Given the description of an element on the screen output the (x, y) to click on. 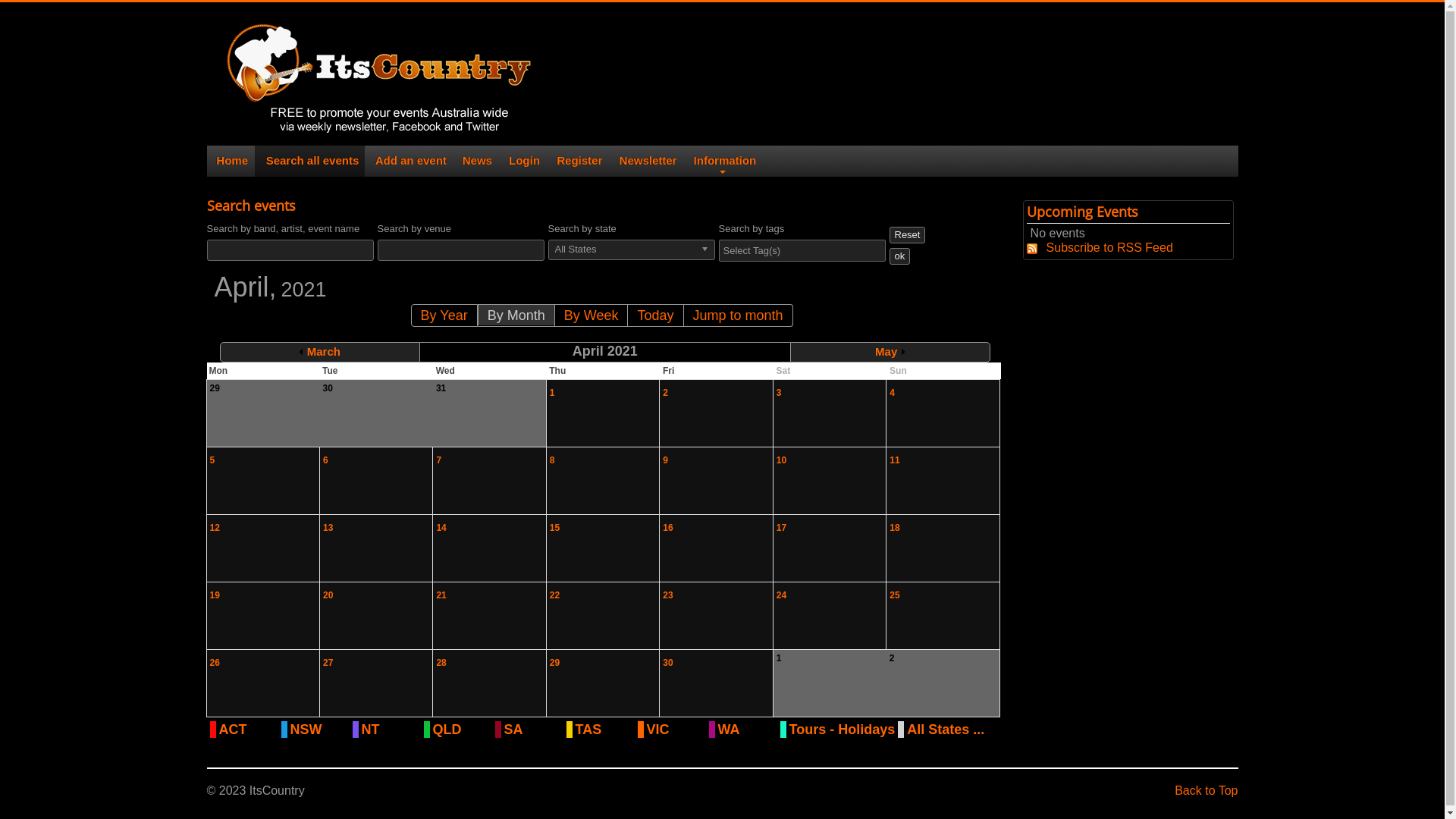
ACT Element type: text (247, 729)
13 Element type: text (327, 527)
Add an event Element type: text (408, 160)
March Element type: text (319, 351)
News Element type: text (476, 160)
10 Element type: text (781, 460)
5 Element type: text (211, 460)
Tours - Holidays Element type: text (841, 729)
23 Element type: text (667, 594)
NSW Element type: text (318, 729)
7 Element type: text (438, 460)
2 Element type: text (665, 392)
9 Element type: text (665, 460)
17 Element type: text (781, 527)
Login Element type: text (522, 160)
21 Element type: text (440, 594)
Home Element type: text (230, 160)
Subscribe to RSS Feed Element type: text (1099, 247)
Register Element type: text (577, 160)
TAS Element type: text (603, 729)
11 Element type: text (894, 460)
Jump to month Element type: text (738, 314)
29 Element type: text (554, 662)
All States ... Element type: text (945, 729)
19 Element type: text (214, 594)
Search all events Element type: text (309, 160)
8 Element type: text (552, 460)
27 Element type: text (327, 662)
15 Element type: text (554, 527)
Today Element type: text (654, 314)
12 Element type: text (214, 527)
26 Element type: text (214, 662)
16 Element type: text (667, 527)
By Month Element type: text (515, 314)
4 Element type: text (891, 392)
28 Element type: text (440, 662)
Back to Top Element type: text (1205, 790)
18 Element type: text (894, 527)
By Week Element type: text (591, 314)
6 Element type: text (325, 460)
25 Element type: text (894, 594)
By Year Element type: text (443, 314)
1 Element type: text (552, 392)
NT Element type: text (390, 729)
Reset Element type: text (906, 234)
All States Element type: text (630, 249)
24 Element type: text (781, 594)
SA Element type: text (532, 729)
3 Element type: text (778, 392)
VIC Element type: text (675, 729)
May Element type: text (889, 351)
QLD Element type: text (461, 729)
14 Element type: text (440, 527)
20 Element type: text (327, 594)
22 Element type: text (554, 594)
WA Element type: text (746, 729)
30 Element type: text (667, 662)
ok Element type: text (899, 255)
Newsletter Element type: text (646, 160)
